Given the description of an element on the screen output the (x, y) to click on. 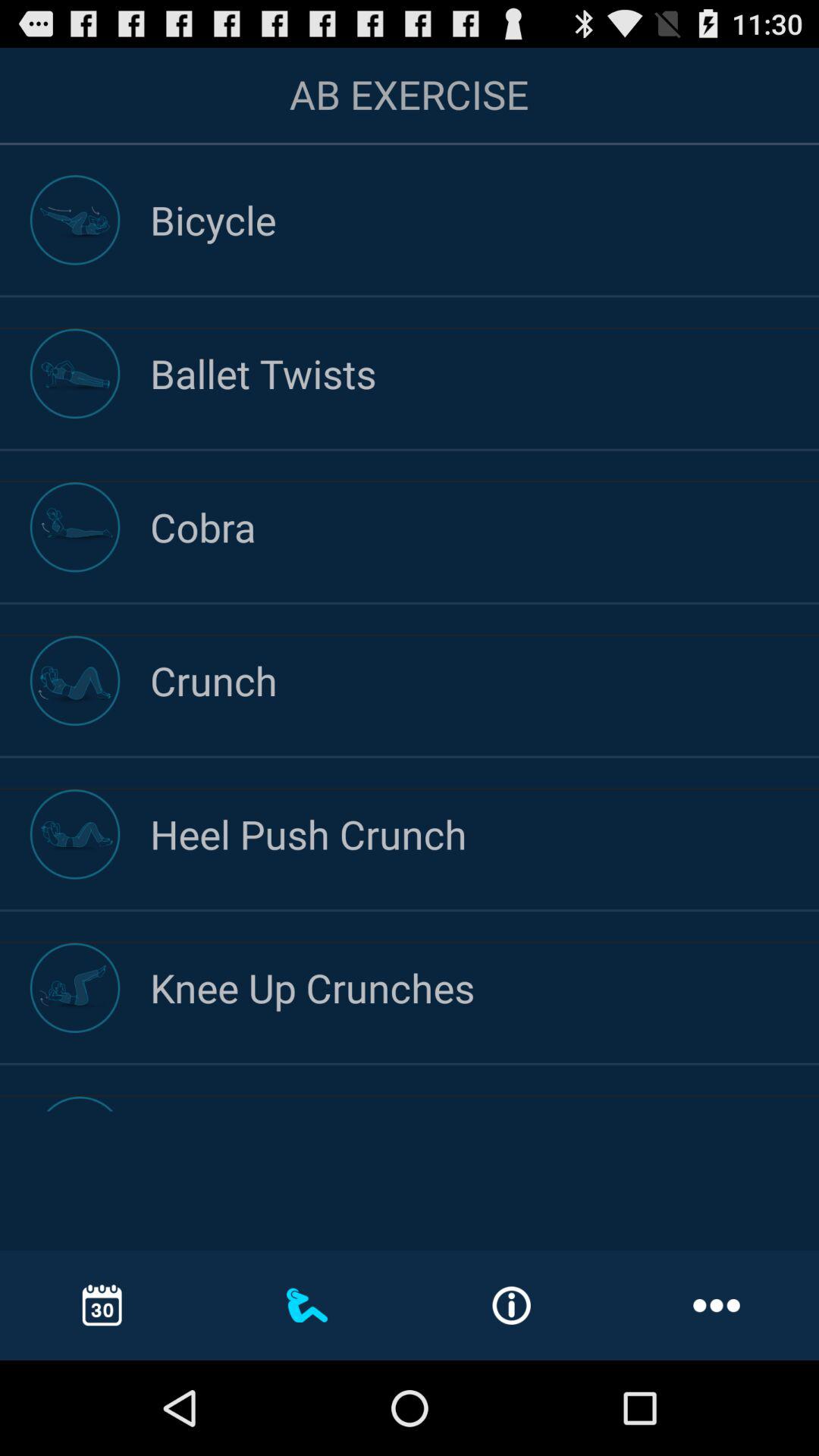
launch the knee up crunches icon (484, 987)
